Given the description of an element on the screen output the (x, y) to click on. 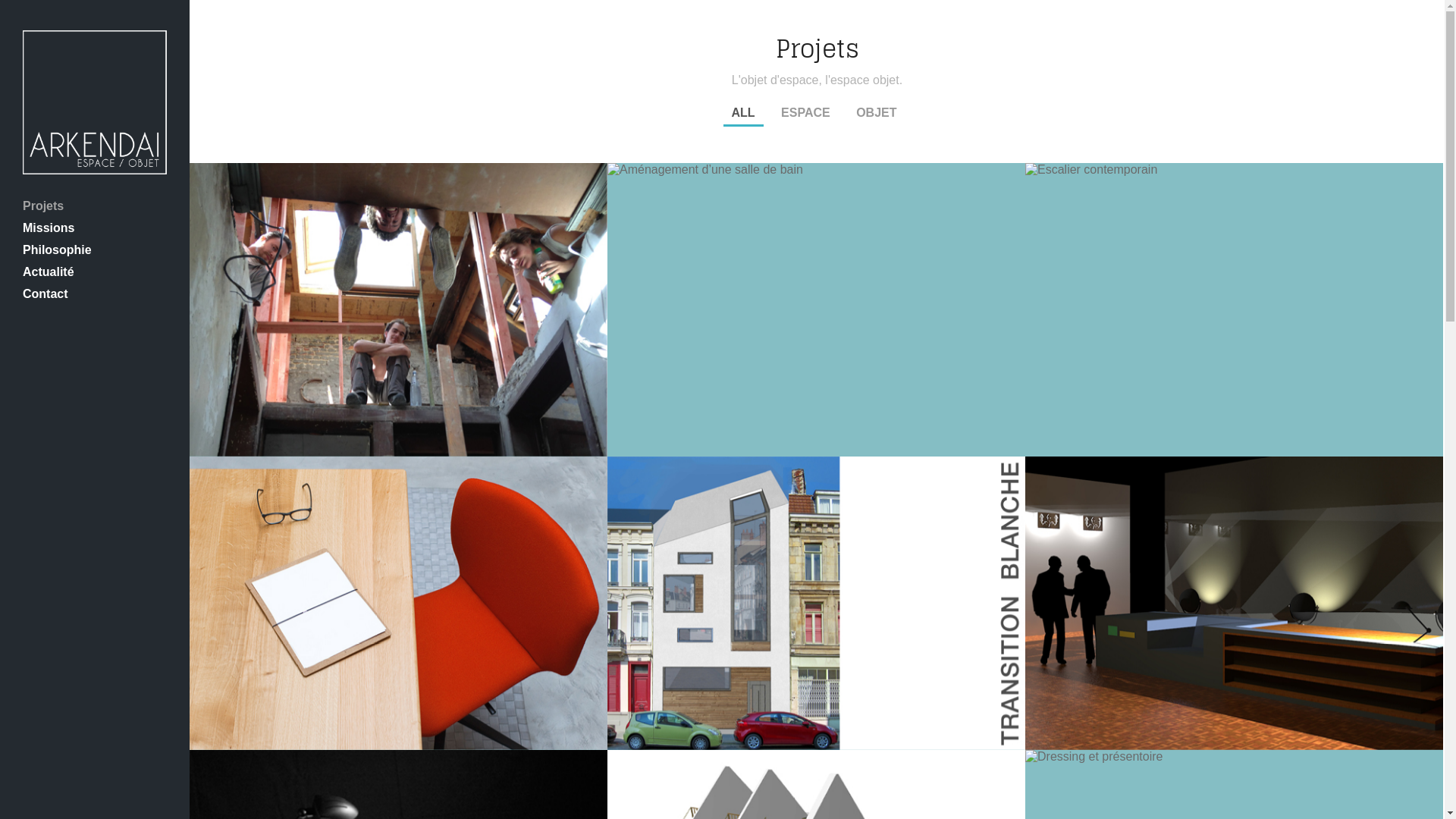
OBJET Element type: text (875, 113)
Projets Element type: text (94, 206)
ESPACE Element type: text (805, 113)
Missions Element type: text (94, 228)
ALL Element type: text (743, 113)
Contact Element type: text (94, 294)
Philosophie Element type: text (94, 250)
